Given the description of an element on the screen output the (x, y) to click on. 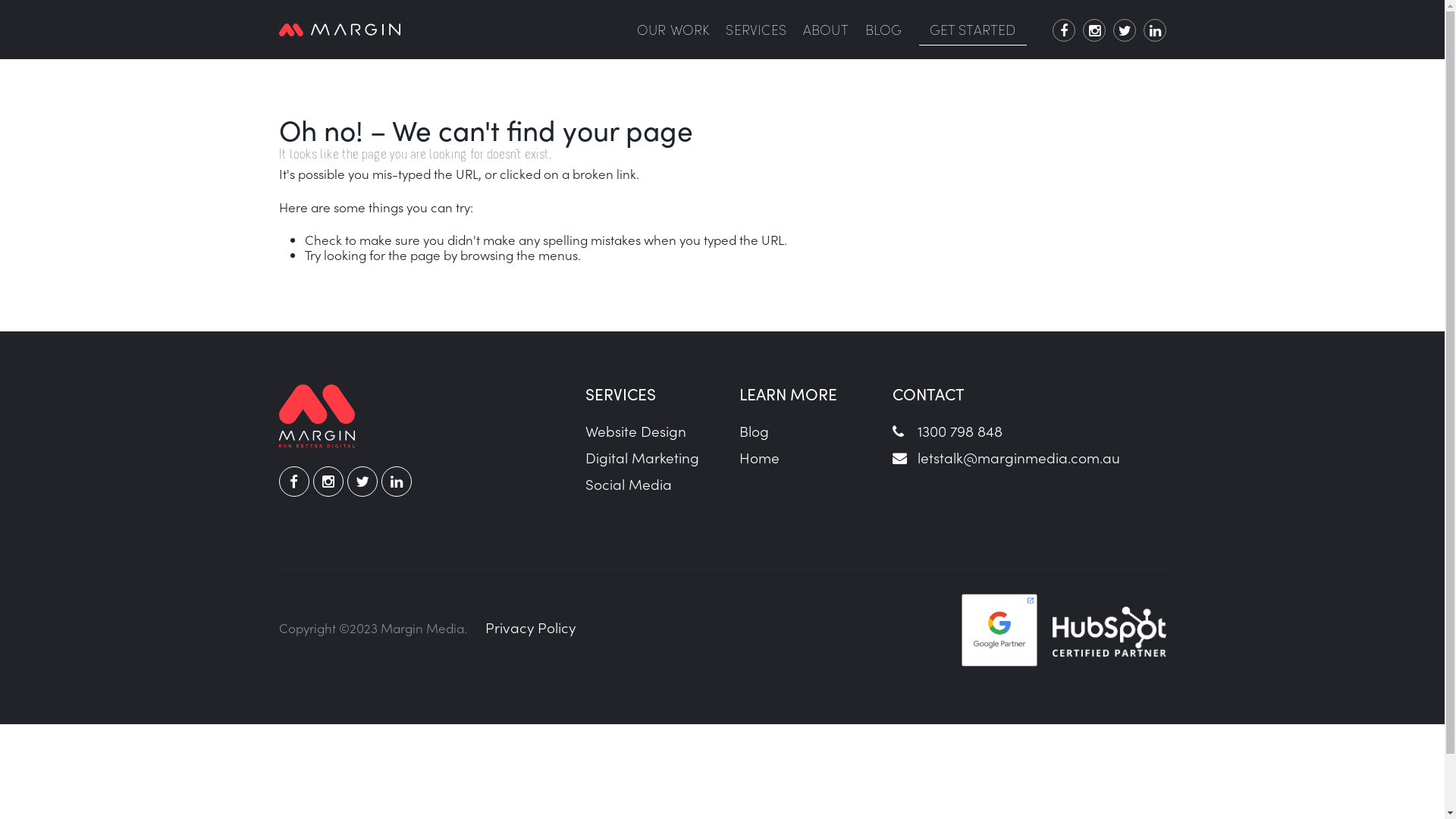
instagram Element type: hover (1093, 29)
GET STARTED Element type: text (972, 29)
Privacy Policy Element type: text (530, 626)
linkedin Element type: hover (395, 481)
facebook Element type: hover (294, 481)
Social Media Element type: text (628, 483)
Home Element type: text (759, 456)
linkedin Element type: hover (1154, 29)
1300 798 848 Element type: text (947, 430)
OUR WORK Element type: text (672, 29)
Digital Marketing Element type: text (642, 456)
Blog Element type: text (753, 430)
facebook Element type: hover (1063, 29)
Group Element type: text (339, 26)
instagram Element type: hover (327, 481)
letstalk@marginmedia.com.au Element type: text (1006, 456)
twitter Element type: hover (1124, 29)
twitter Element type: hover (362, 481)
BLOG Element type: text (883, 29)
SERVICES Element type: text (755, 29)
Website Design Element type: text (635, 430)
ABOUT Element type: text (825, 29)
